Given the description of an element on the screen output the (x, y) to click on. 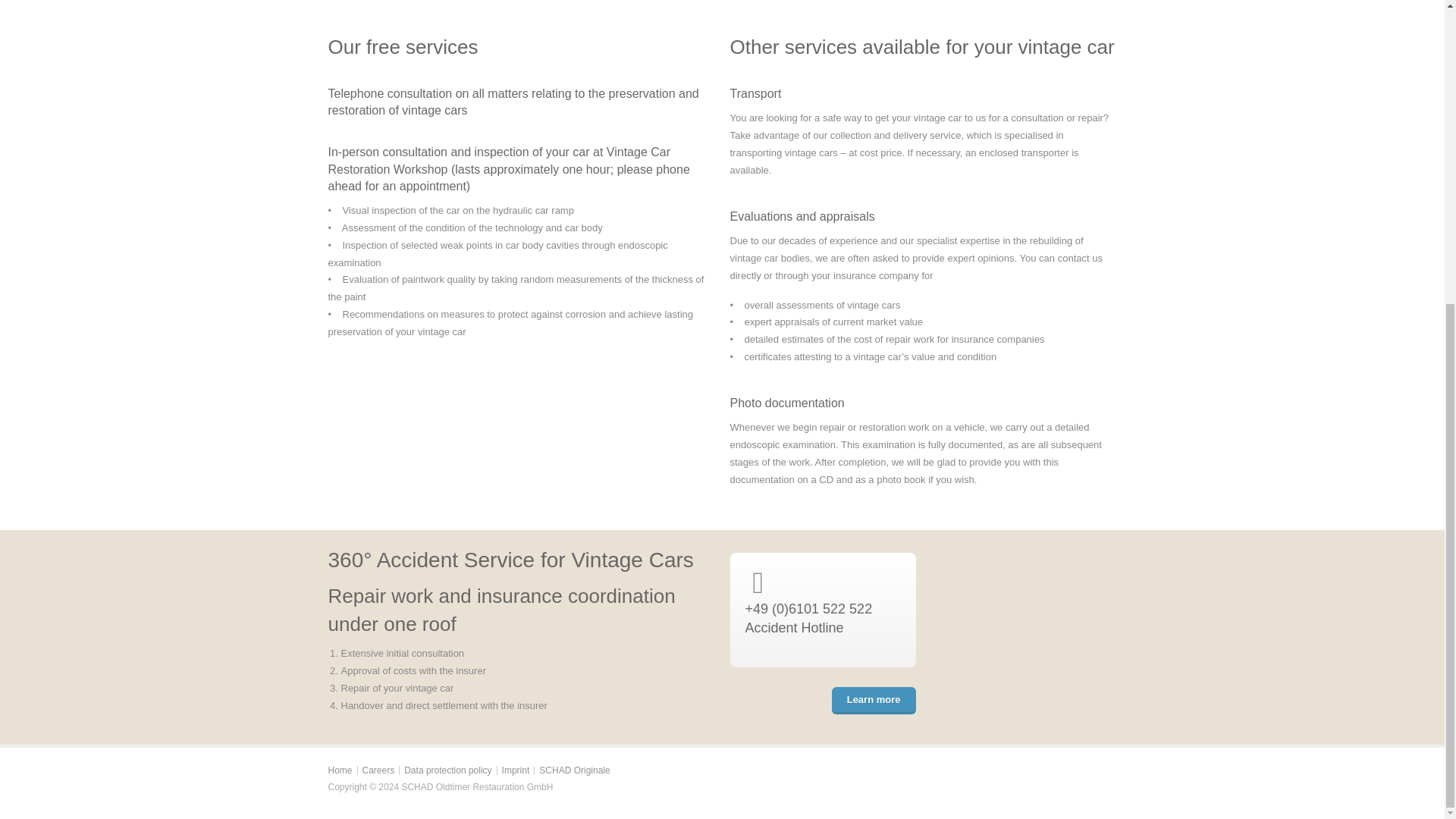
Data protection policy (448, 769)
SCHAD Originale (574, 769)
Learn more (873, 700)
Home (339, 769)
Imprint (515, 769)
Open Cookie Preferences (32, 324)
Careers (378, 769)
Learn more (873, 700)
